Given the description of an element on the screen output the (x, y) to click on. 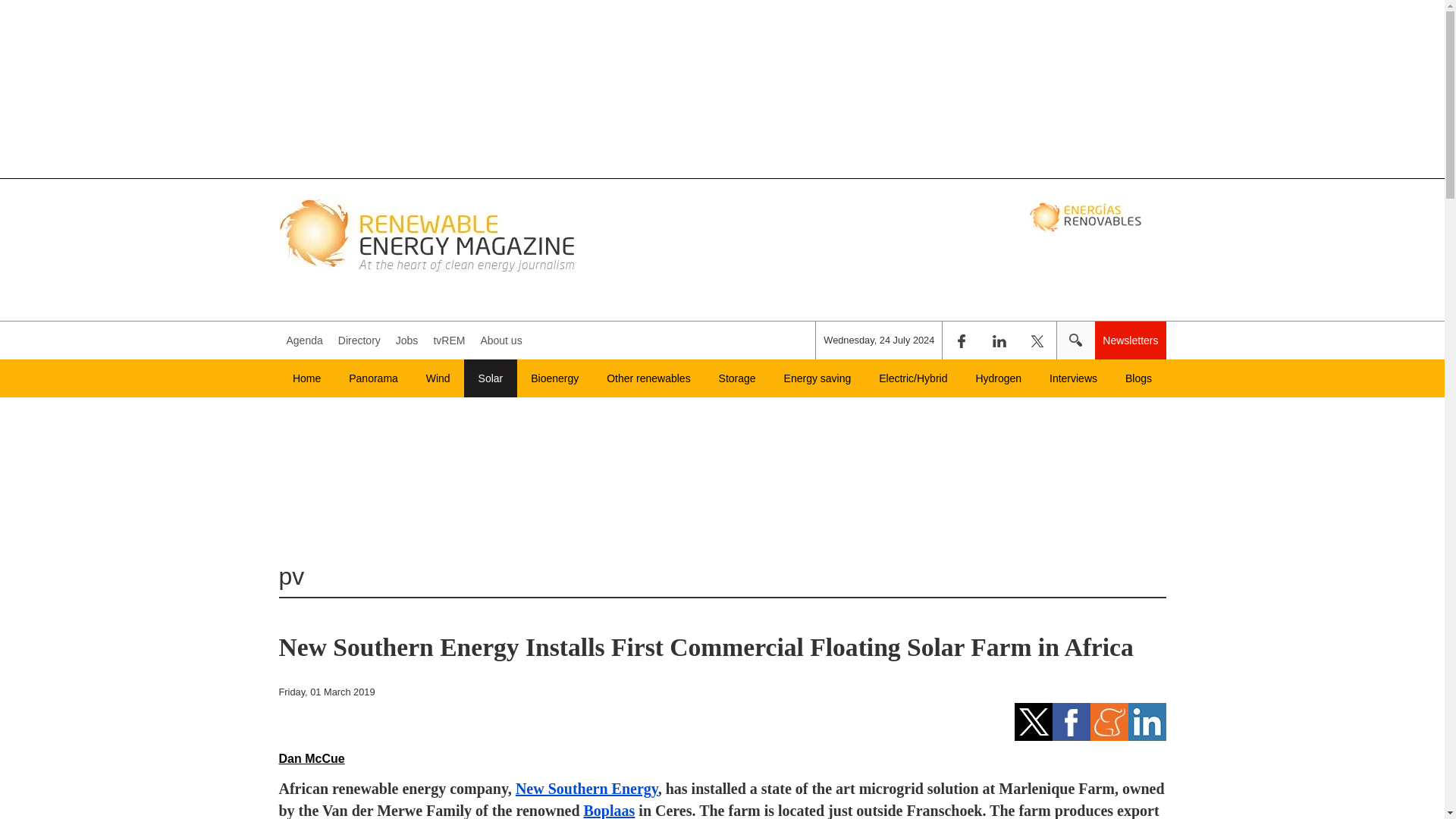
Facebook (960, 340)
tvREM (448, 340)
Go to Home (306, 378)
Newsletters (1130, 340)
Solar (490, 378)
Energy saving (817, 378)
Go to About us (500, 340)
Go to Jobs (407, 340)
Go to Solar (490, 378)
Ir a Inicio (429, 234)
Go to Agenda (304, 340)
Go to Newsletters (1130, 340)
Interviews (1073, 378)
Other renewables (648, 378)
Go to Companies directory (359, 340)
